Given the description of an element on the screen output the (x, y) to click on. 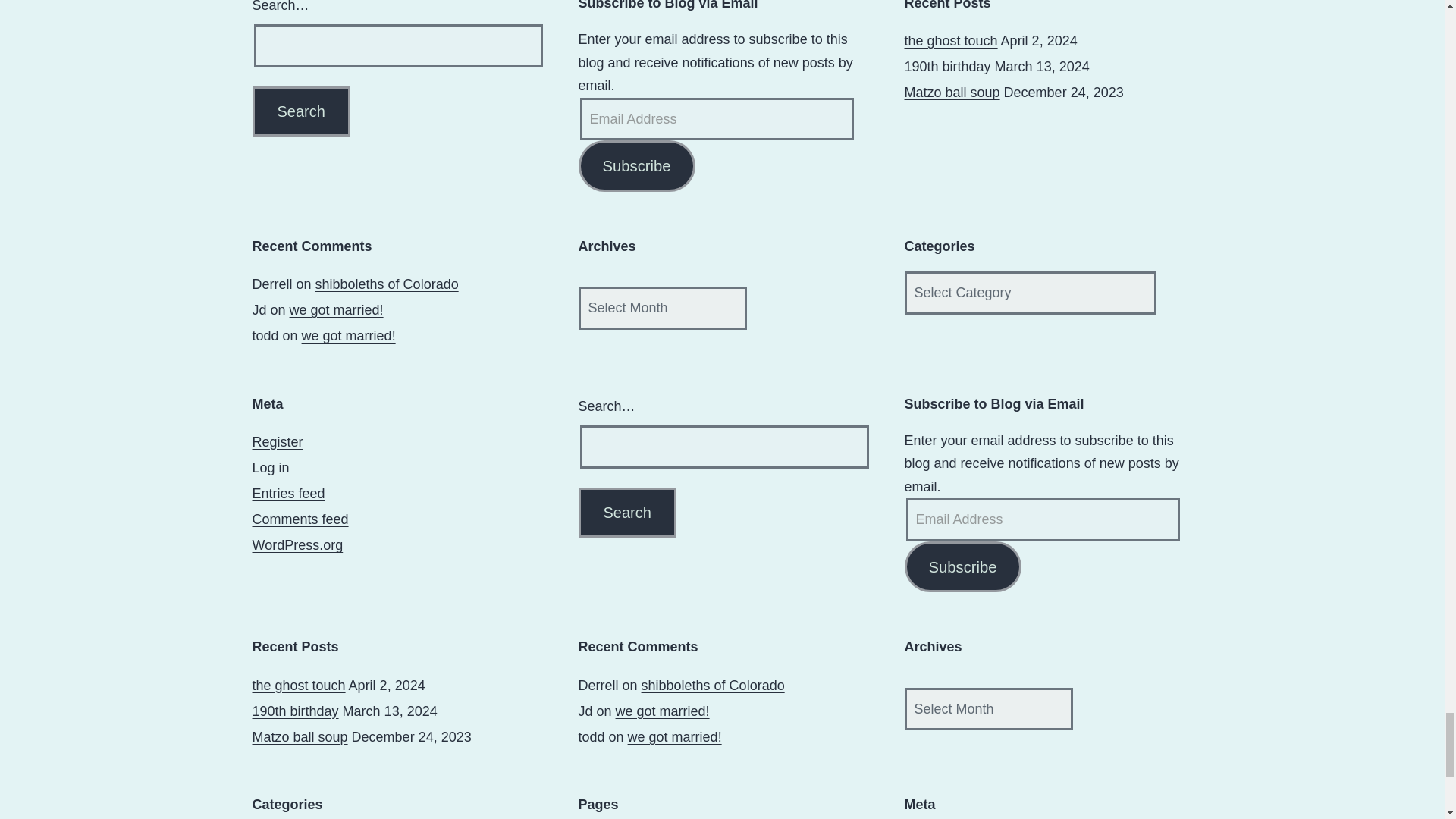
Subscribe (962, 566)
Search (300, 111)
Search (626, 512)
Search (626, 512)
Search (300, 111)
Comments feed (299, 519)
the ghost touch (298, 685)
Register (276, 441)
Log in (269, 467)
Search (626, 512)
